Given the description of an element on the screen output the (x, y) to click on. 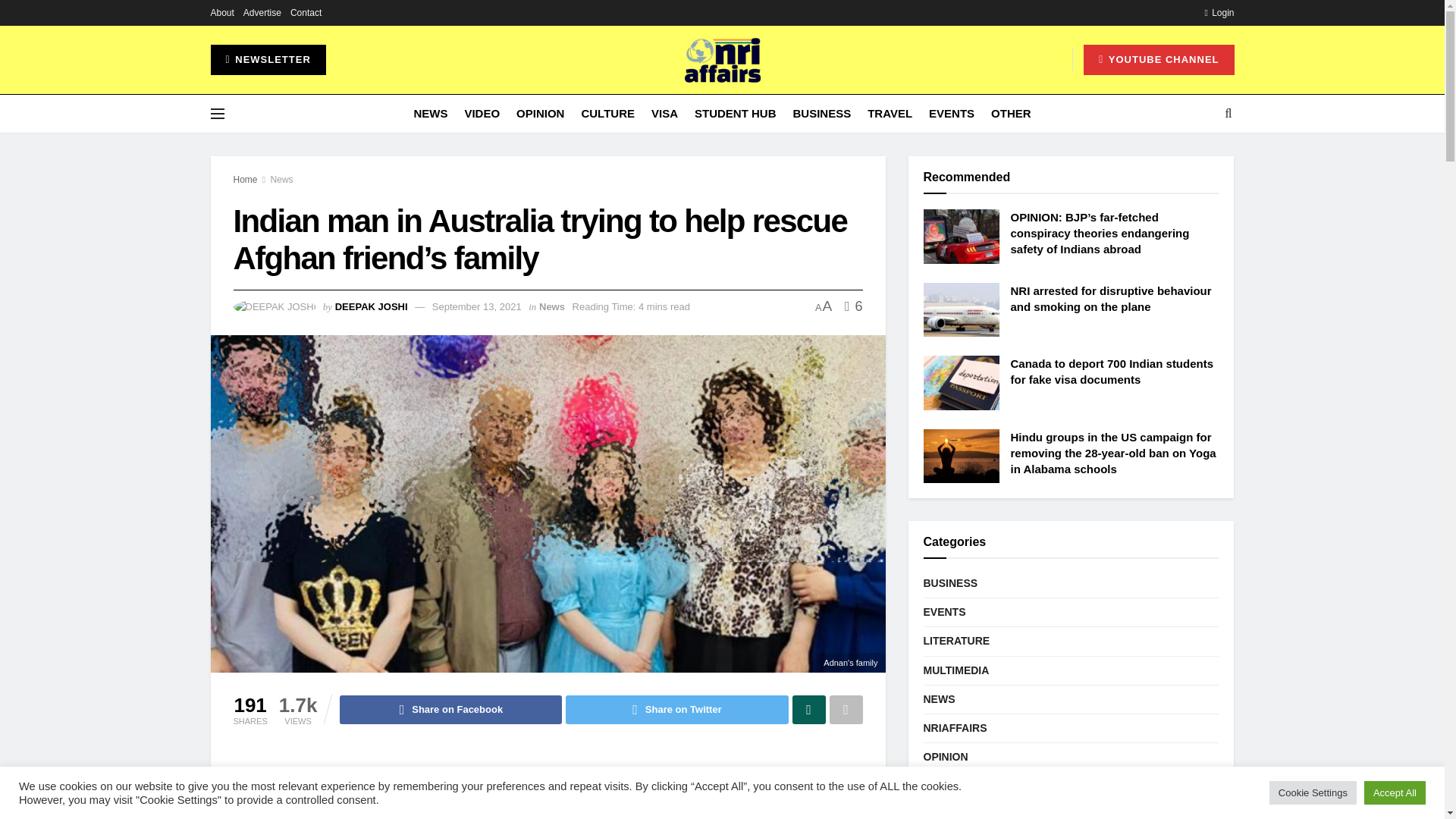
OTHER (1010, 113)
VISA (664, 113)
BUSINESS (822, 113)
Advertisement (547, 785)
OPINION (540, 113)
Home (244, 179)
NEWSLETTER (268, 60)
Contact (305, 12)
STUDENT HUB (735, 113)
News (282, 179)
